Given the description of an element on the screen output the (x, y) to click on. 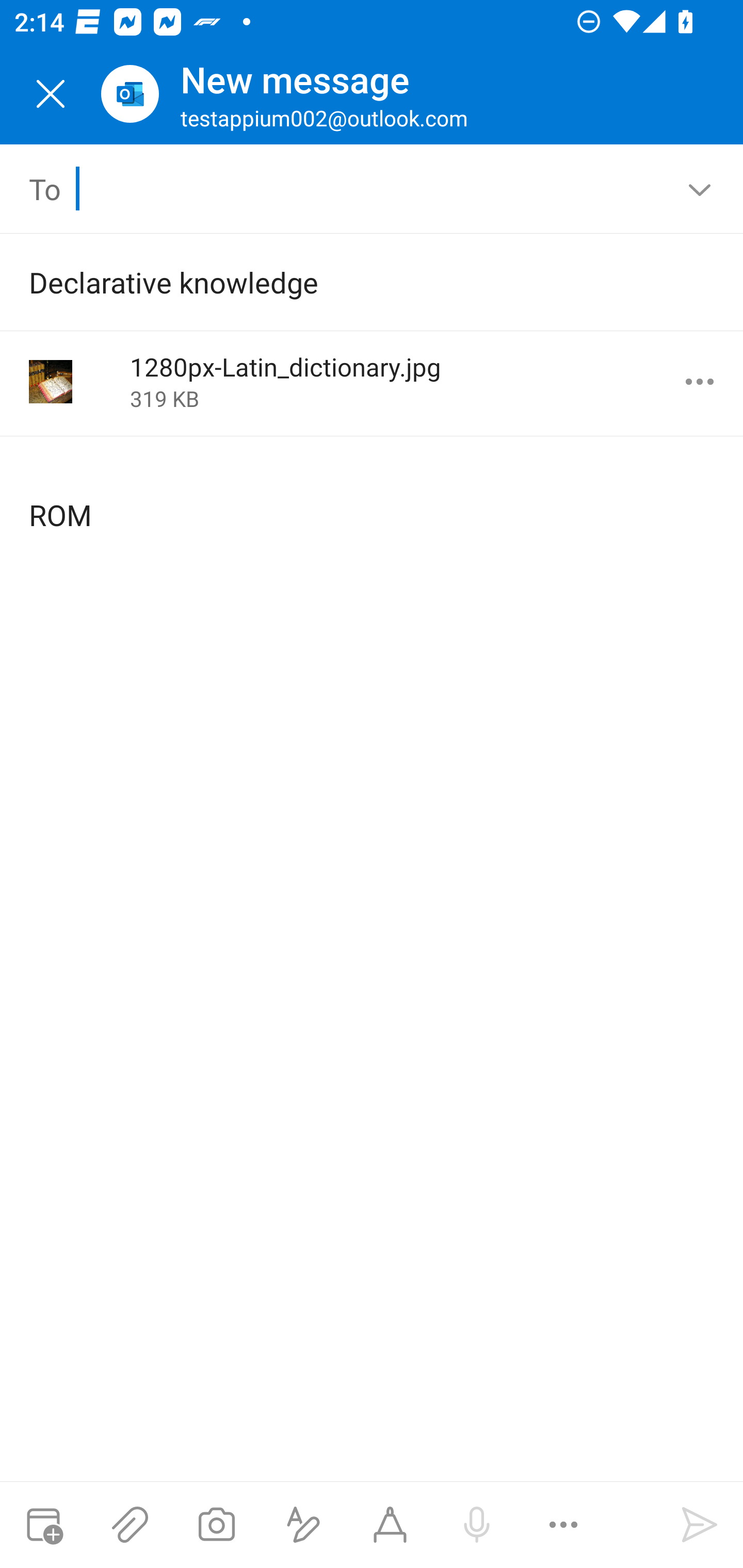
Close (50, 93)
Declarative knowledge (342, 281)
1280px-Latin_dictionary.jpg 319 KB More options (371, 382)
More options (699, 381)

ROM (372, 499)
Attach meeting (43, 1524)
Attach files (129, 1524)
Take a photo (216, 1524)
Show formatting options (303, 1524)
Start Ink compose (389, 1524)
More options (563, 1524)
Send (699, 1524)
